Given the description of an element on the screen output the (x, y) to click on. 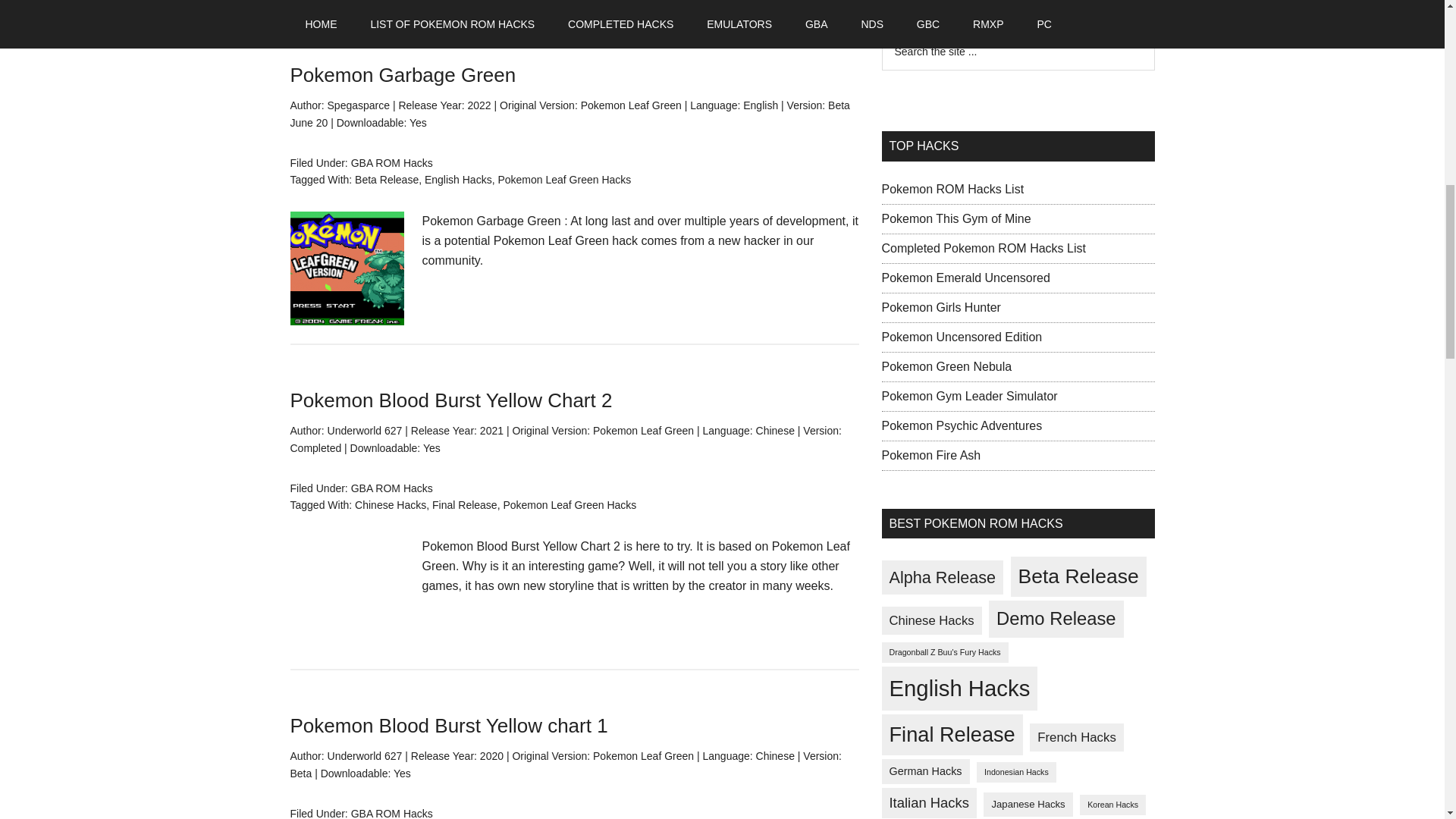
Chinese Hacks (390, 504)
GBA ROM Hacks (391, 812)
Pokemon Leaf Green Hacks (569, 504)
English Hacks (458, 179)
Pokemon Leaf Green Hacks (563, 179)
Pokemon Garbage Green (402, 74)
GBA ROM Hacks (391, 162)
Pokemon Blood Burst Yellow Chart 2 (450, 400)
Final Release (464, 504)
